Given the description of an element on the screen output the (x, y) to click on. 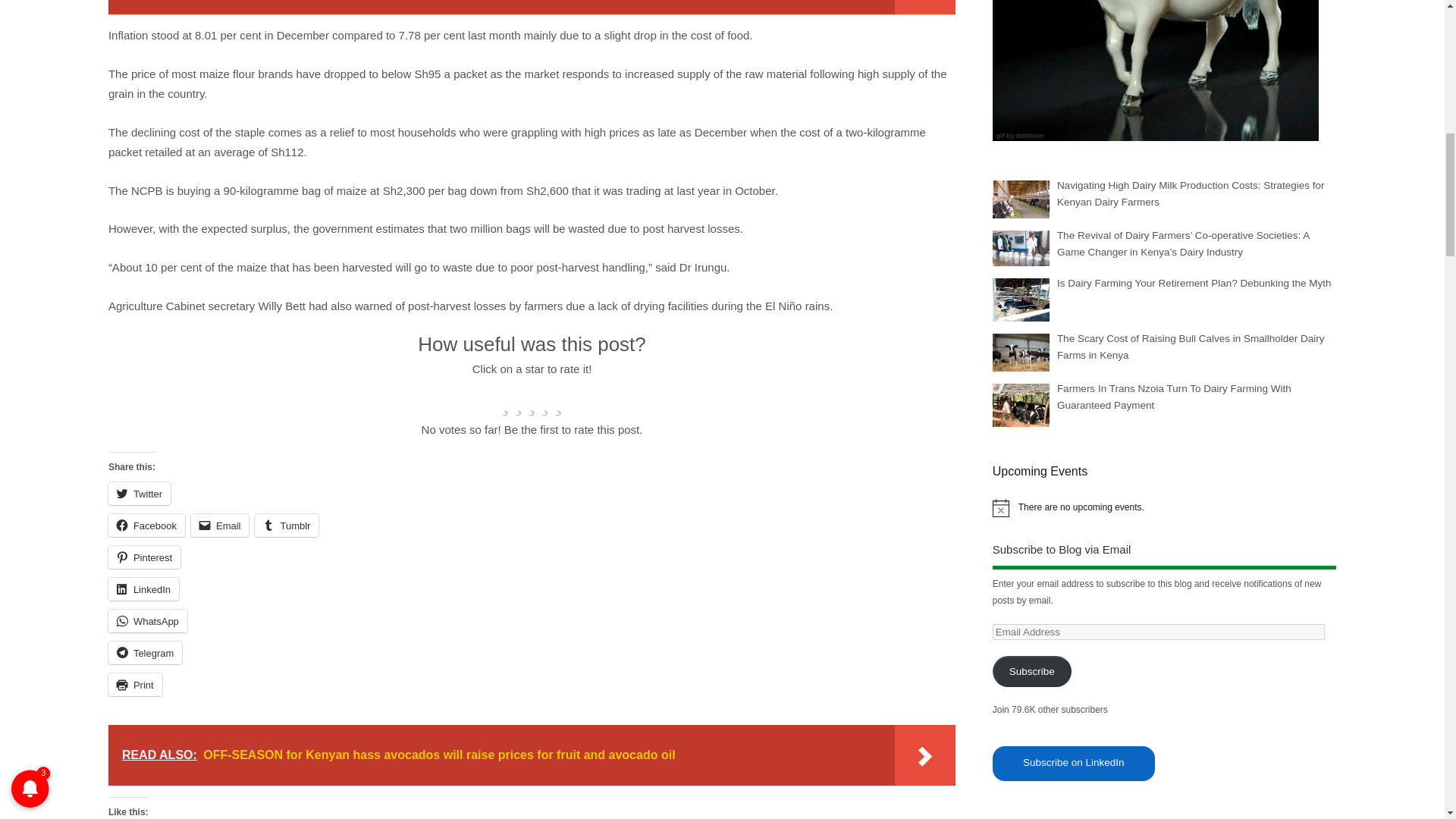
Click to email a link to a friend (219, 525)
Click to share on Facebook (145, 525)
Click to share on Tumblr (286, 525)
Click to share on Twitter (138, 493)
